Given the description of an element on the screen output the (x, y) to click on. 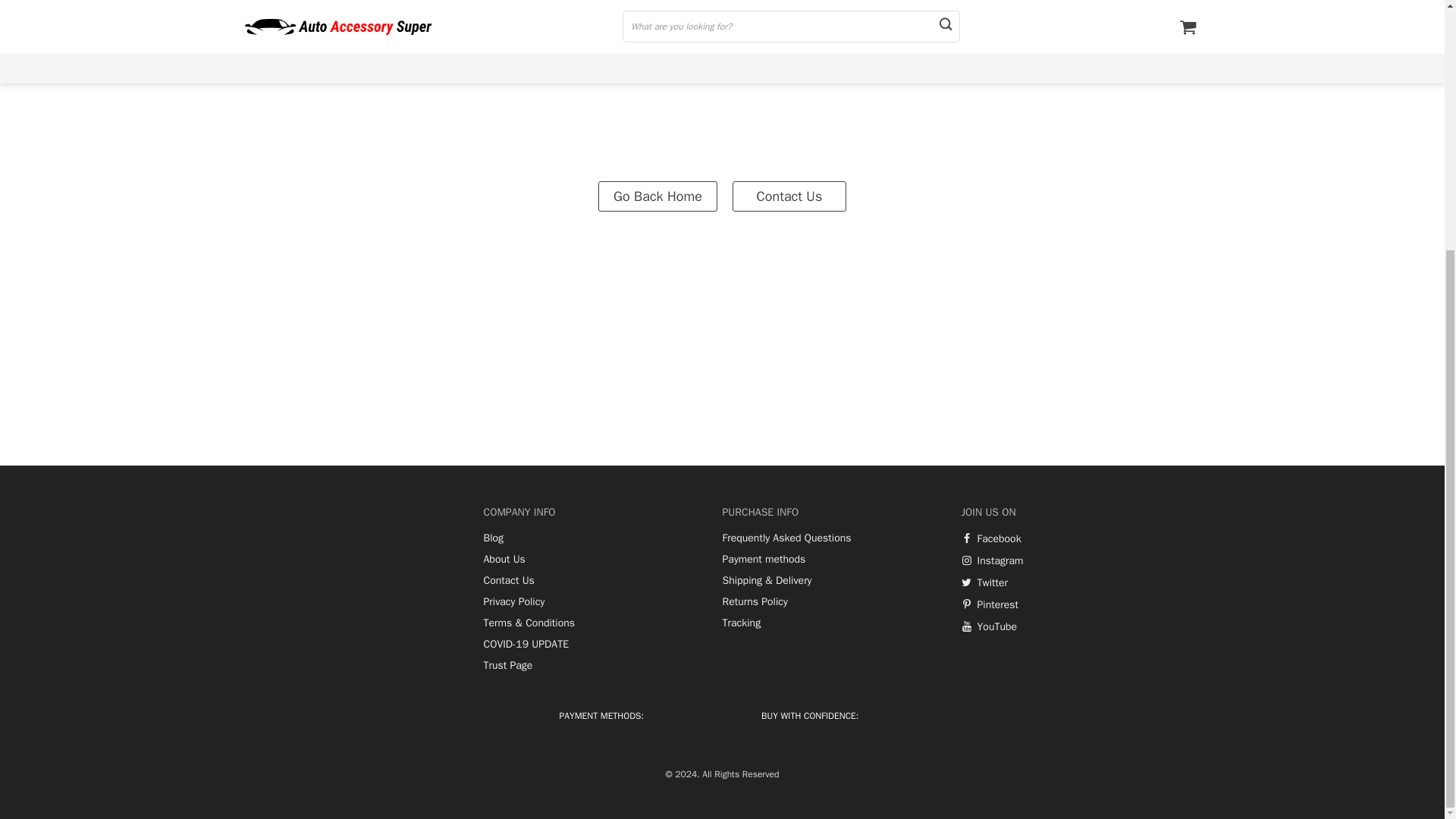
YouTube (988, 626)
Payment methods (763, 559)
Returns Policy (754, 602)
Contact Us (508, 581)
Trust Page (507, 665)
Instagram (991, 561)
Contact Us (788, 195)
Blog (493, 538)
Facebook (991, 539)
Twitter (984, 582)
